Given the description of an element on the screen output the (x, y) to click on. 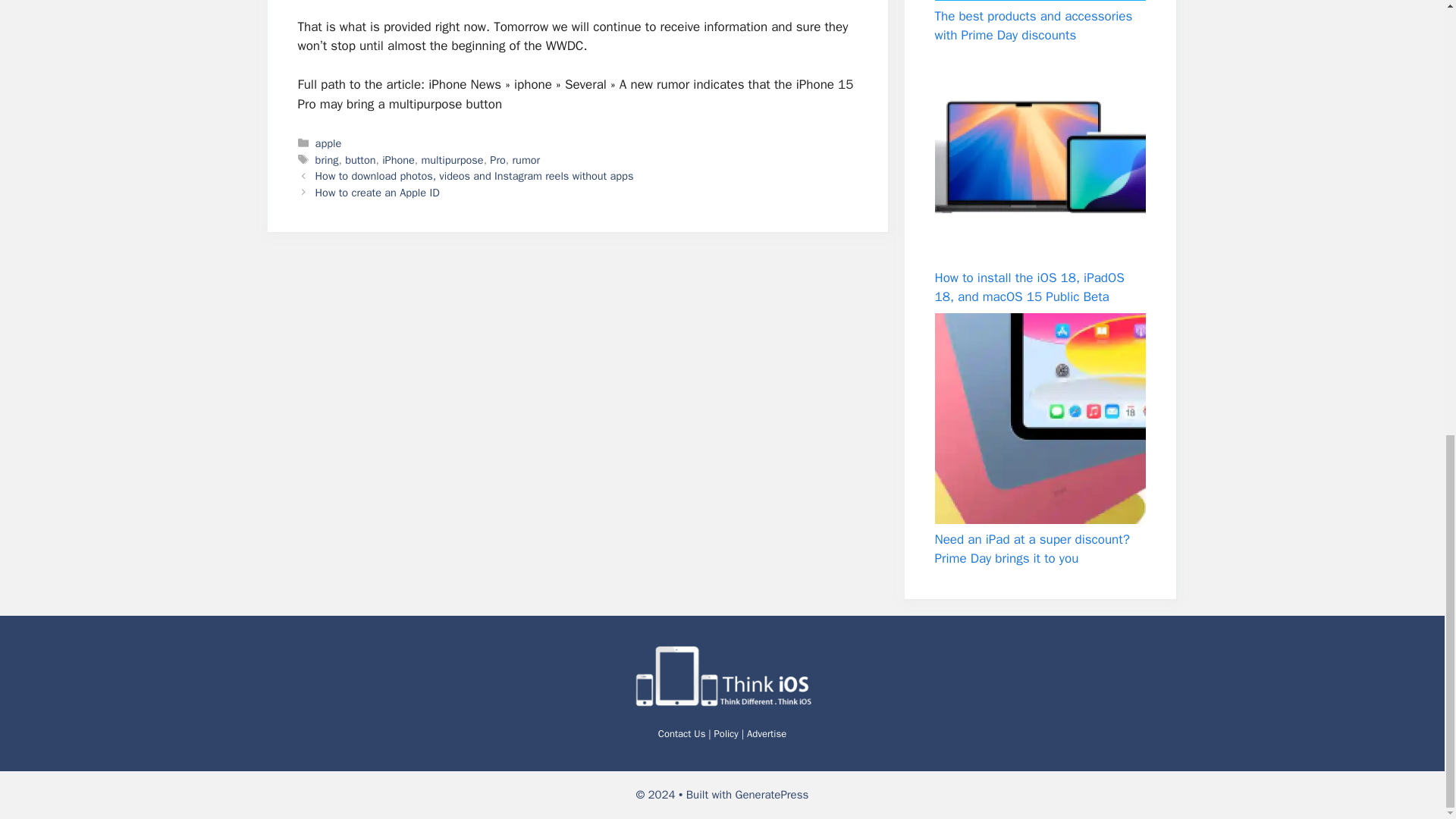
Pro (497, 160)
The best products and accessories with Prime Day discounts (1033, 26)
Policy (726, 733)
Need an iPad at a super discount? Prime Day brings it to you (1031, 549)
Advertise (766, 733)
rumor (526, 160)
How to create an Apple ID (377, 192)
Need an iPad at a super discount? Prime Day brings it to you (1039, 418)
iPhone (397, 160)
button (360, 160)
bring (327, 160)
Contact Us (682, 733)
